Given the description of an element on the screen output the (x, y) to click on. 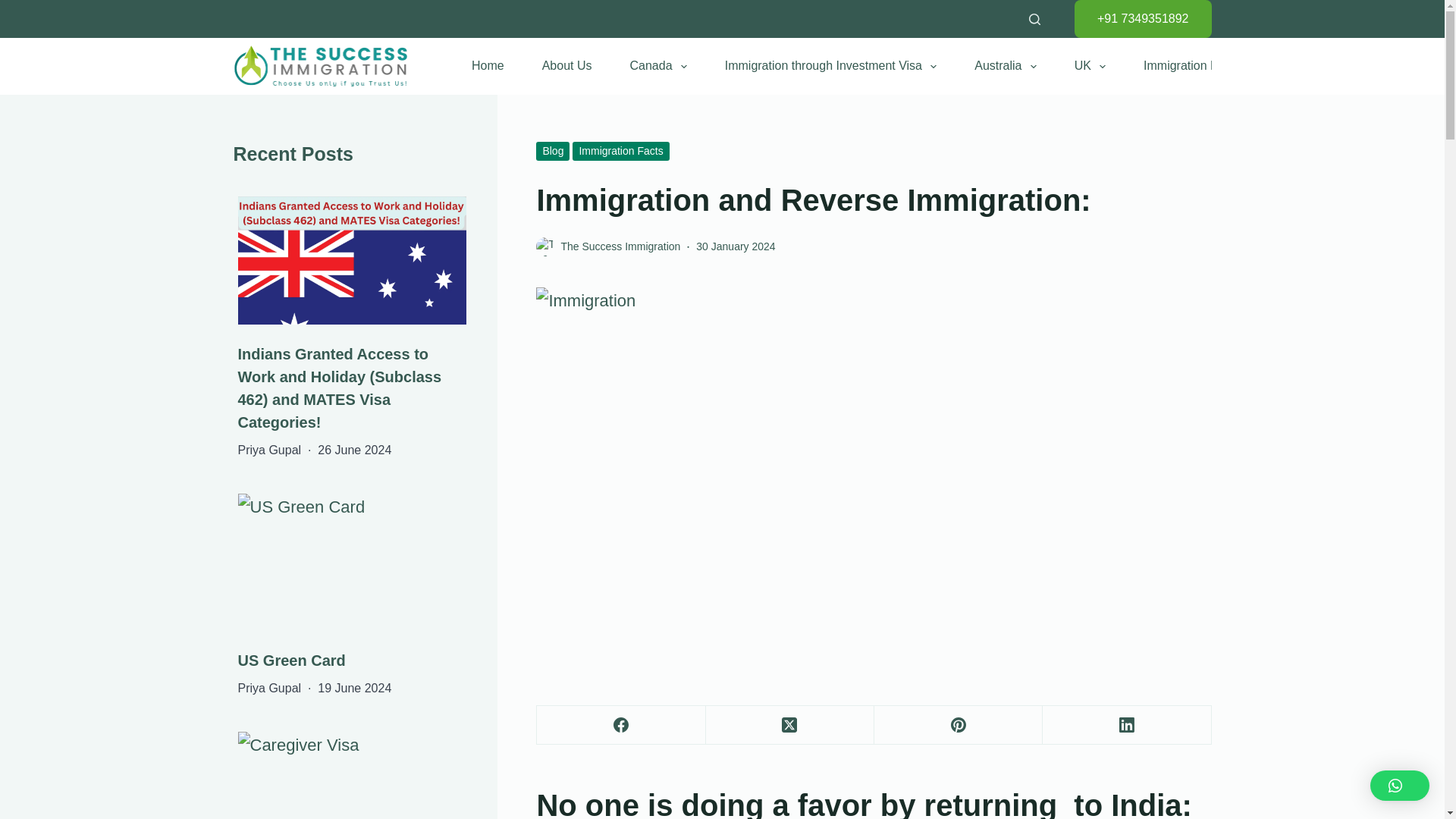
Skip to content (15, 7)
Immigration and Reverse Immigration: (873, 199)
Posts by The Success Immigration (619, 246)
